Given the description of an element on the screen output the (x, y) to click on. 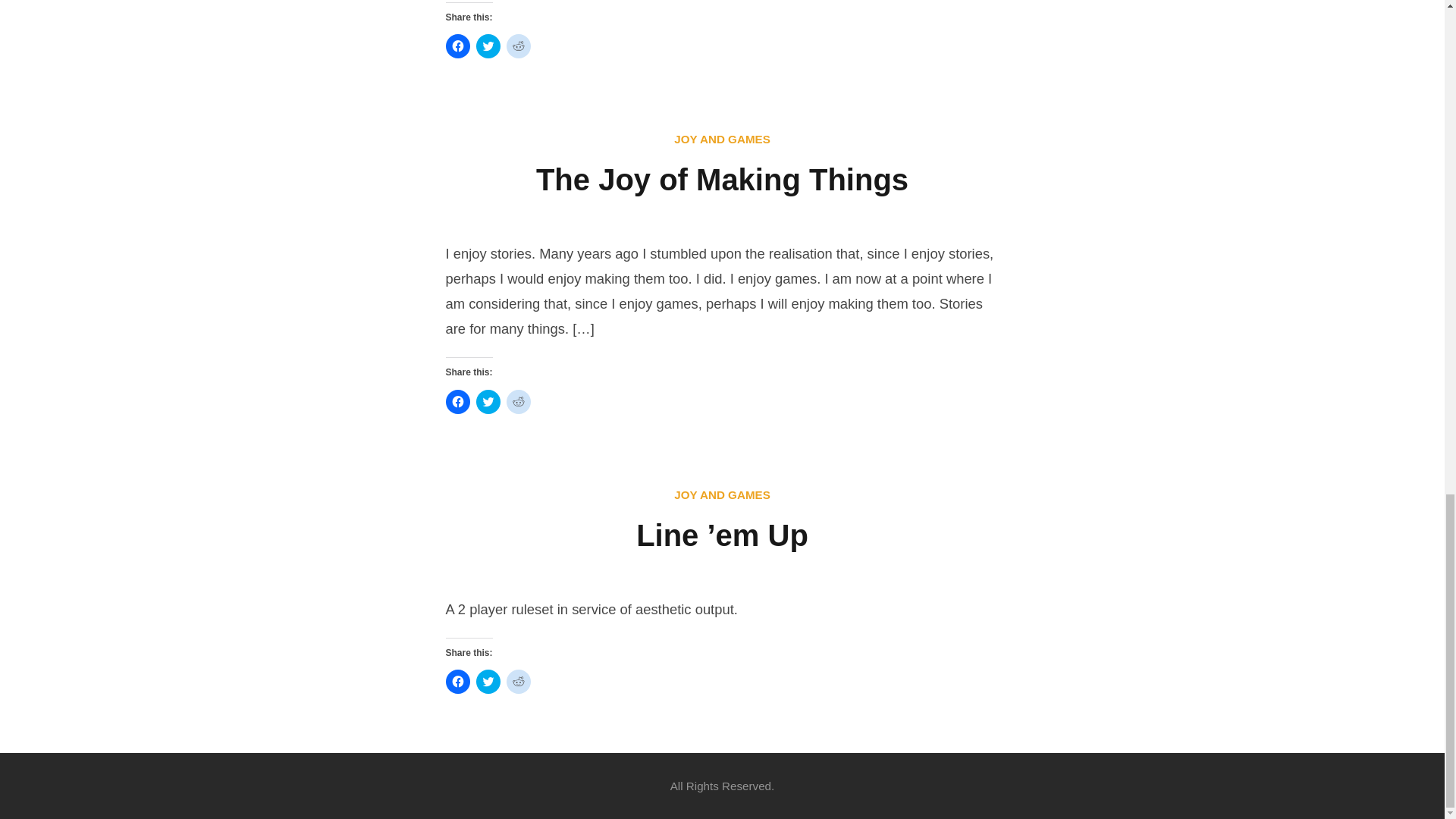
Click to share on Facebook (457, 46)
Click to share on Reddit (518, 401)
Click to share on Twitter (488, 46)
Click to share on Facebook (457, 401)
Click to share on Twitter (488, 401)
Click to share on Reddit (518, 46)
